Given the description of an element on the screen output the (x, y) to click on. 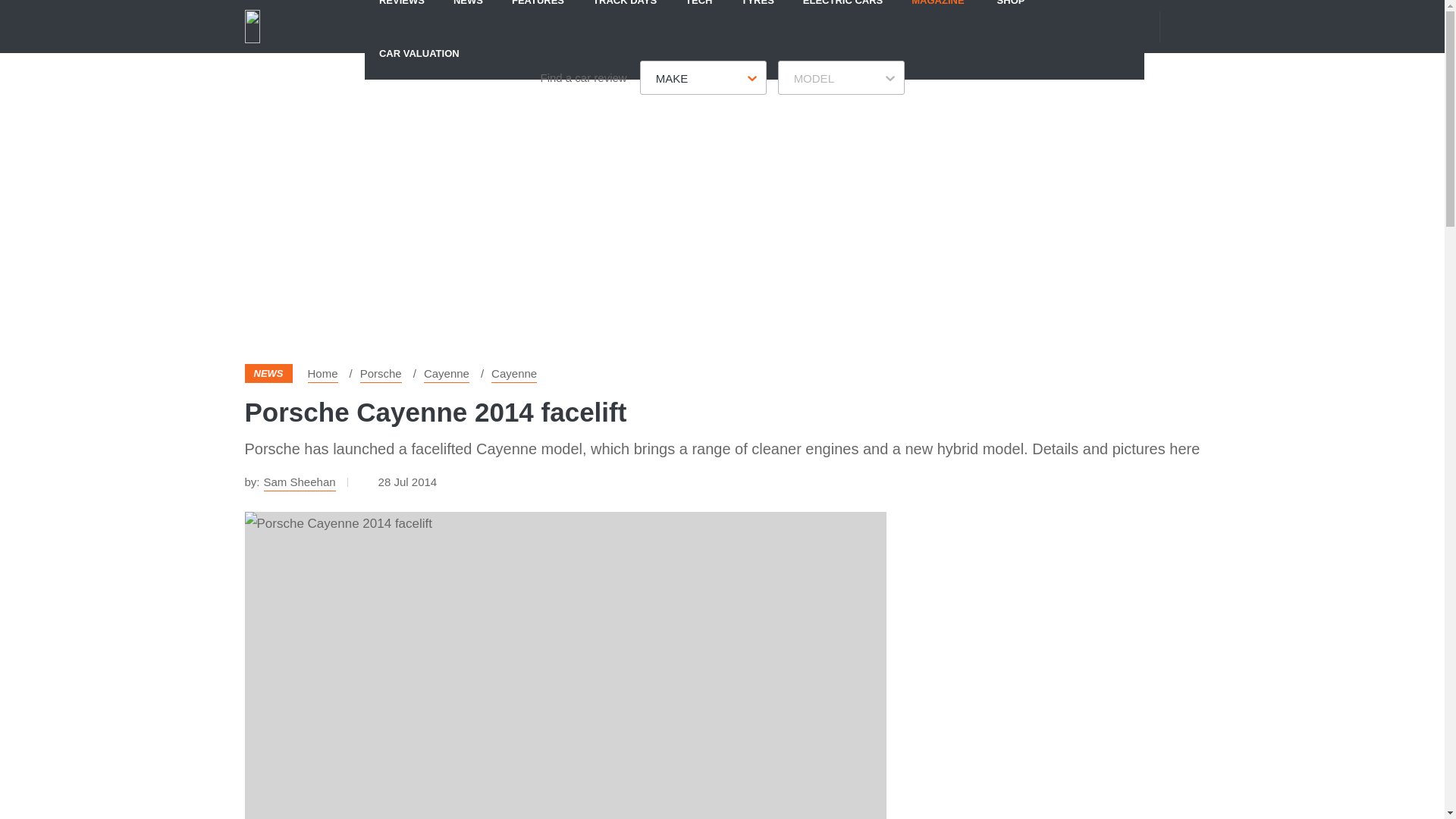
NEWS (468, 13)
ELECTRIC CARS (842, 13)
MAGAZINE (937, 13)
REVIEWS (402, 13)
TECH (698, 13)
TRACK DAYS (624, 13)
CAR VALUATION (419, 52)
Search (1189, 26)
SHOP (1010, 13)
TYRES (756, 13)
FEATURES (537, 13)
